Given the description of an element on the screen output the (x, y) to click on. 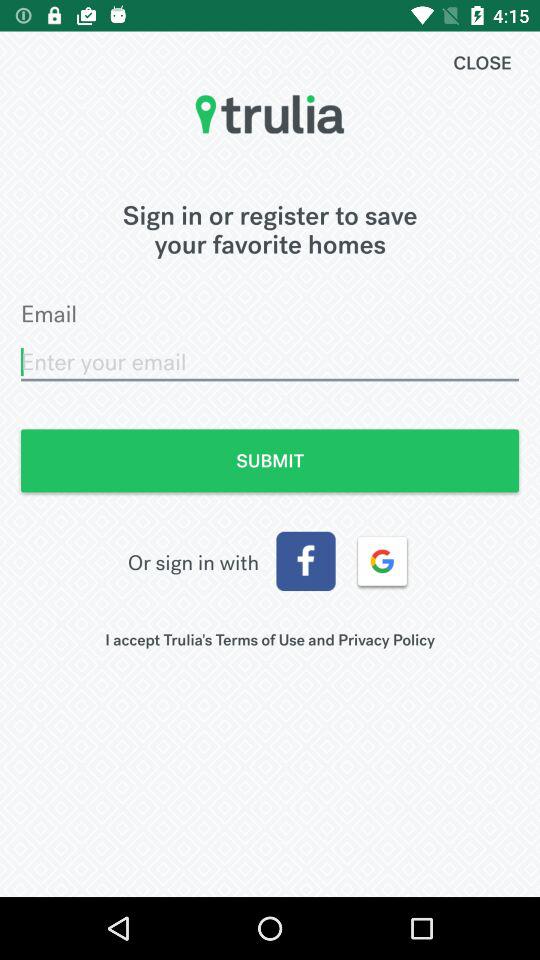
launch the item above the i accept trulia icon (382, 561)
